Given the description of an element on the screen output the (x, y) to click on. 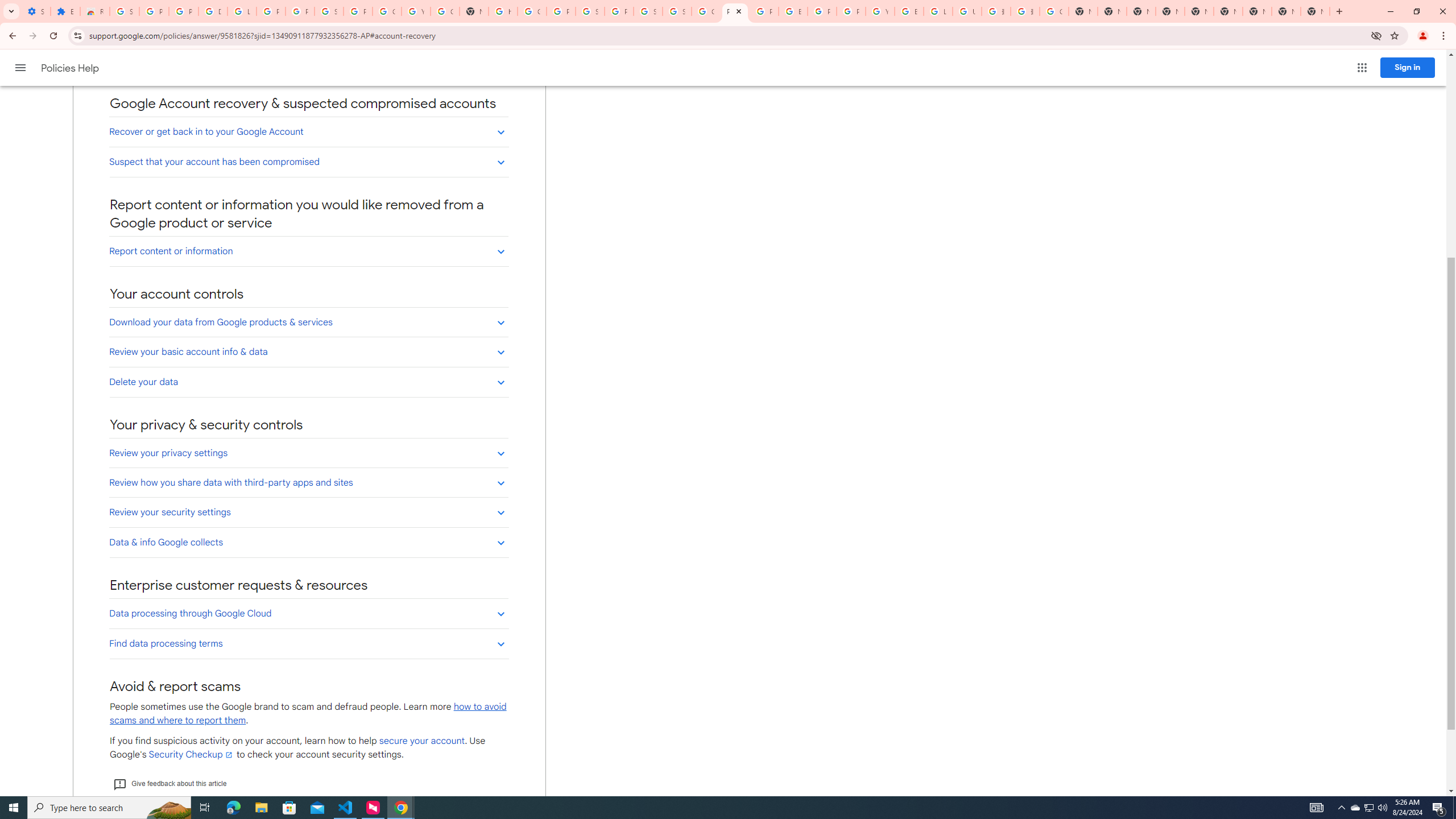
Privacy Help Center - Policies Help (763, 11)
Review your basic account info & data (308, 351)
Security Checkup (191, 754)
New Tab (1169, 11)
how to avoid scams and where to report them (307, 713)
Delete your data (308, 381)
